Given the description of an element on the screen output the (x, y) to click on. 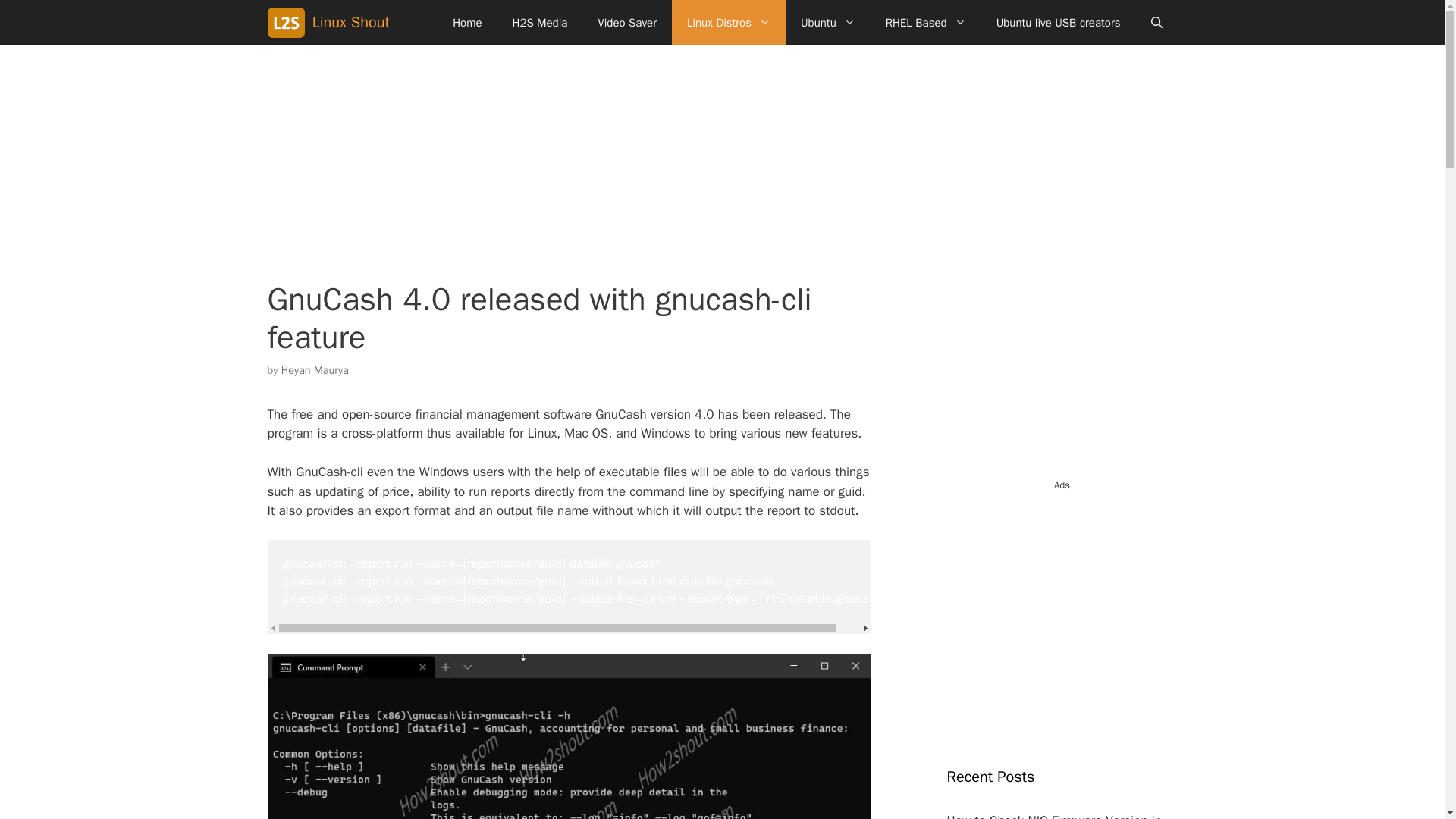
Linux Distros (728, 22)
gnucash-cli for command line tasks under Windows (568, 736)
Ubuntu Linux (828, 22)
Linux Distros (728, 22)
Linux Shout (351, 22)
View all posts by Heyan Maurya (315, 369)
Video Saver (626, 22)
H2S Media (540, 22)
Home (467, 22)
Linux Shout (288, 22)
